Given the description of an element on the screen output the (x, y) to click on. 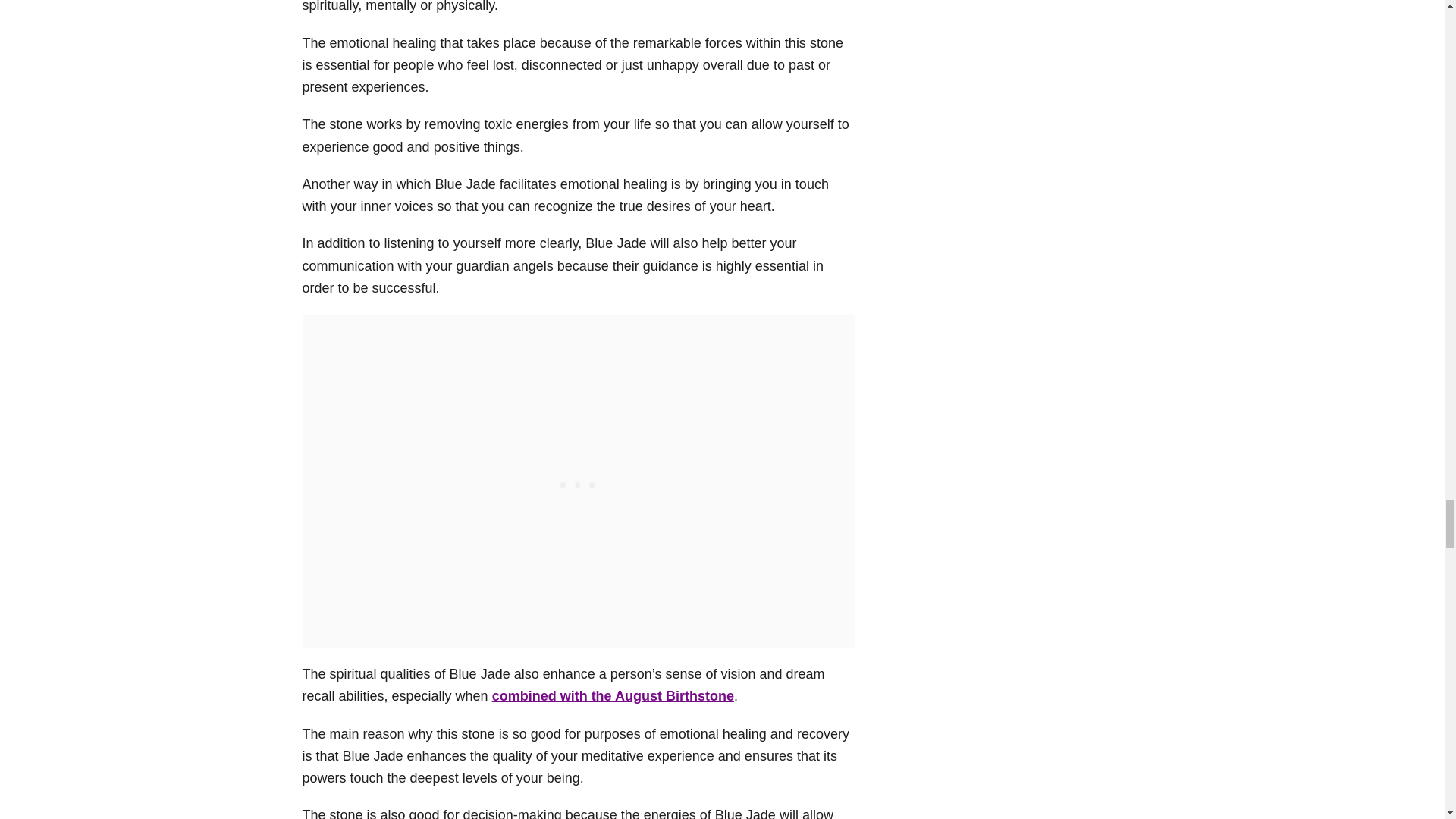
combined with the August Birthstone (612, 695)
